Given the description of an element on the screen output the (x, y) to click on. 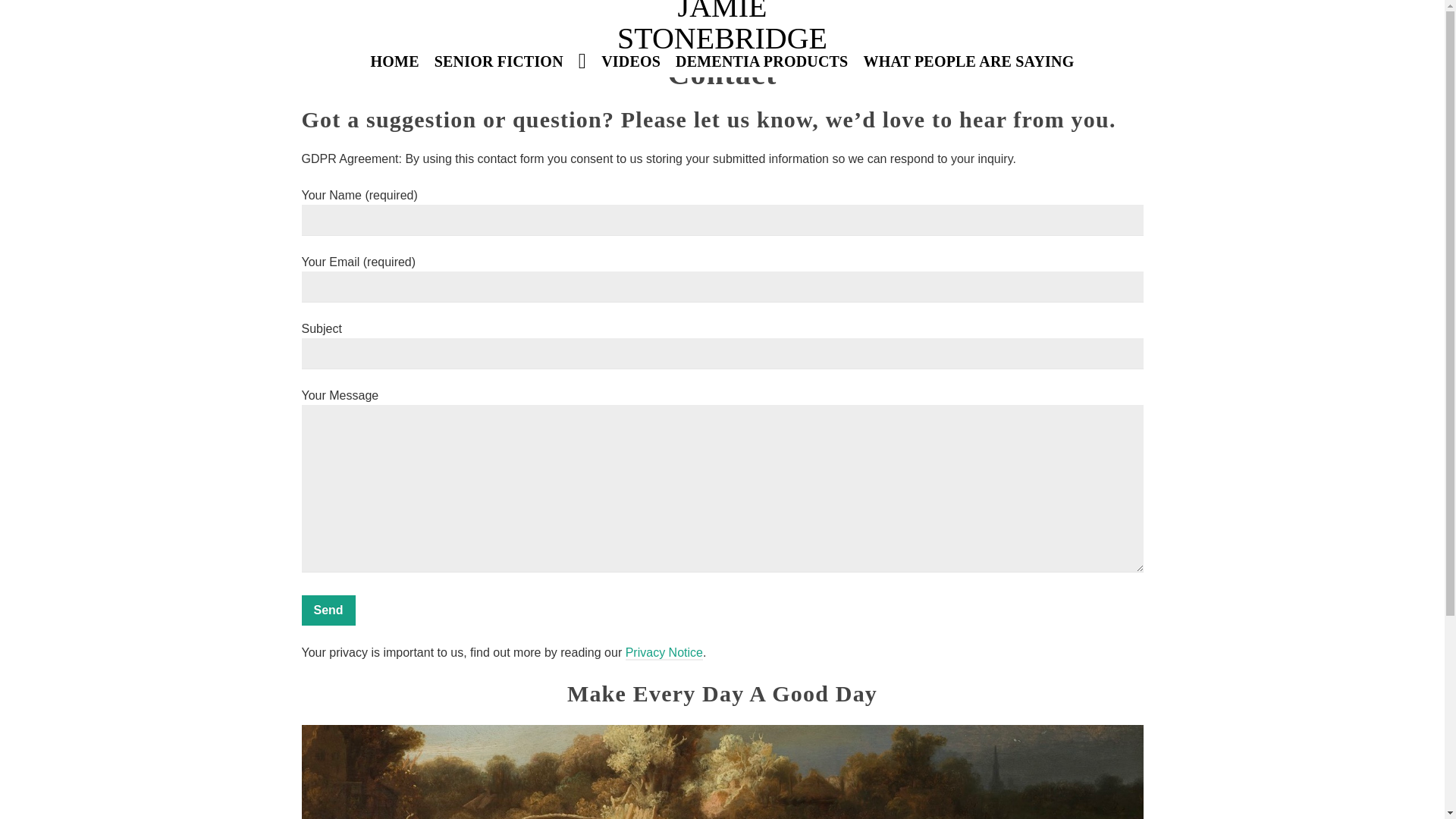
WHAT PEOPLE ARE SAYING (968, 60)
Amazon.com (1102, 32)
HOME (394, 60)
SENIOR FICTION (498, 60)
Privacy Notice (664, 653)
Send (328, 610)
VIDEOS (631, 60)
DEMENTIA PRODUCTS (762, 60)
Send (328, 610)
JAMIE STONEBRIDGE (721, 22)
